Given the description of an element on the screen output the (x, y) to click on. 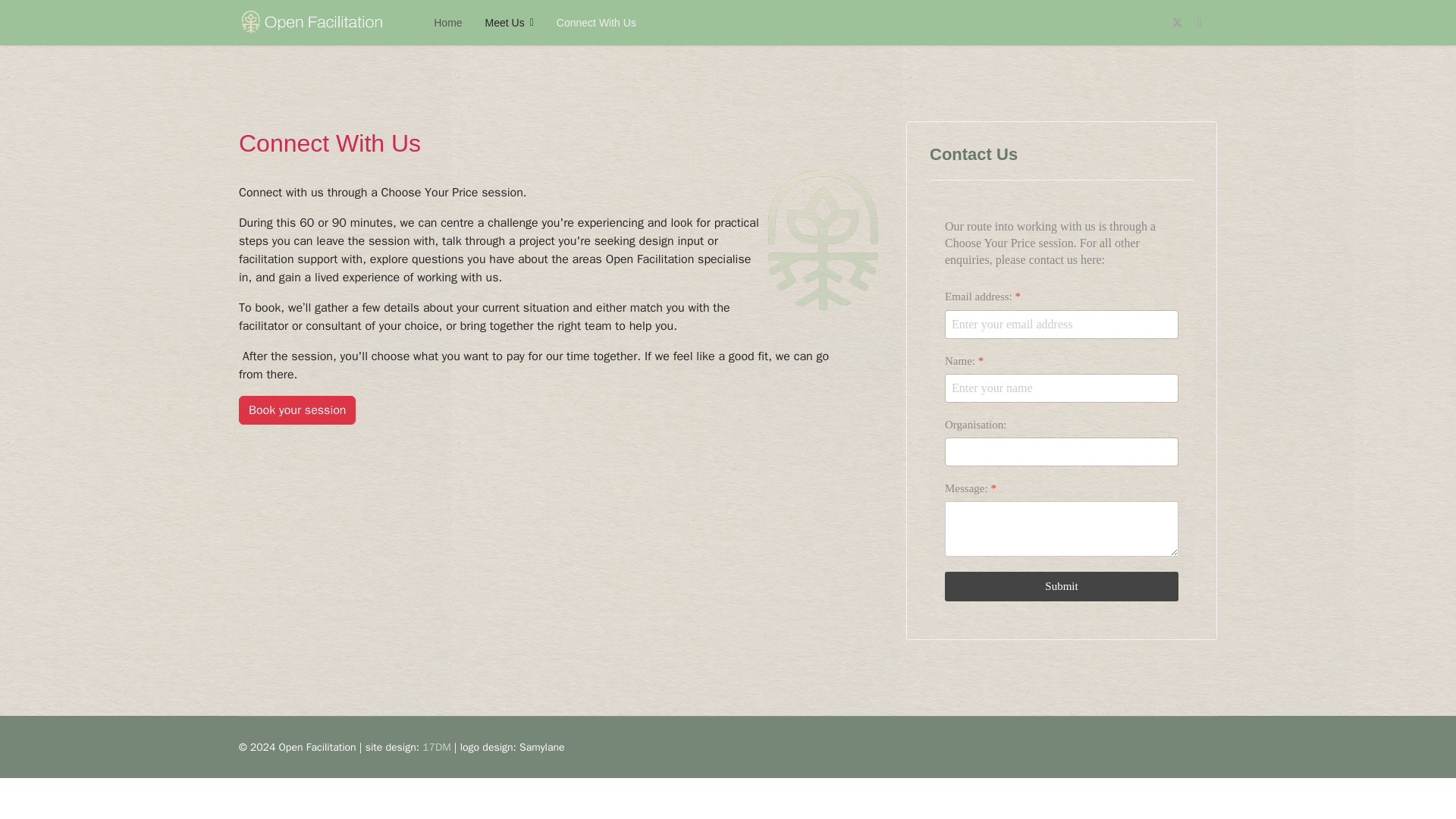
Book your session (296, 410)
17DM (435, 747)
Submit (1060, 586)
Connect With Us (590, 22)
Home (447, 22)
